Given the description of an element on the screen output the (x, y) to click on. 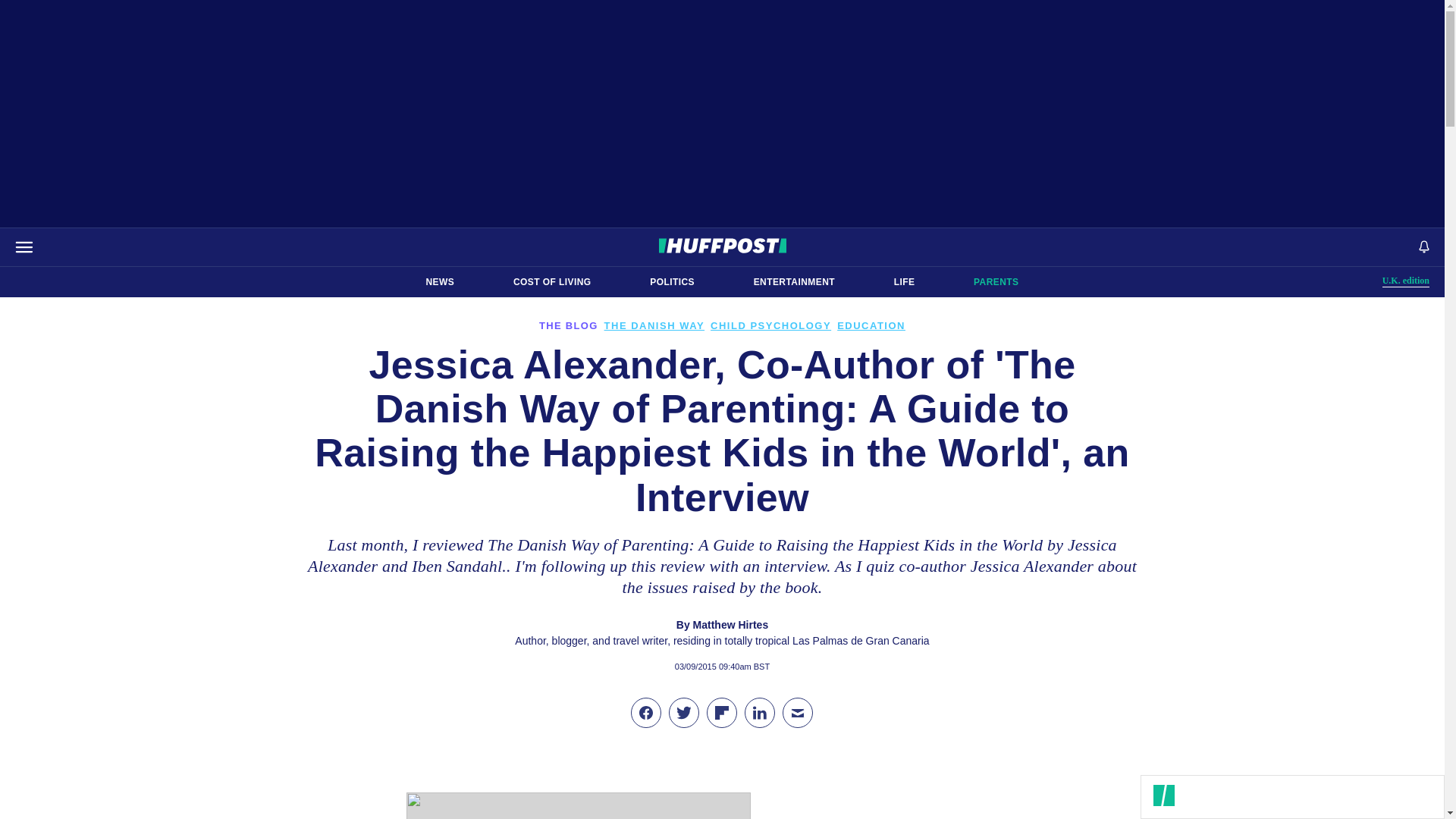
PARENTS (995, 281)
POLITICS (671, 281)
COST OF LIVING (1405, 281)
LIFE (552, 281)
NEWS (904, 281)
ENTERTAINMENT (440, 281)
